Given the description of an element on the screen output the (x, y) to click on. 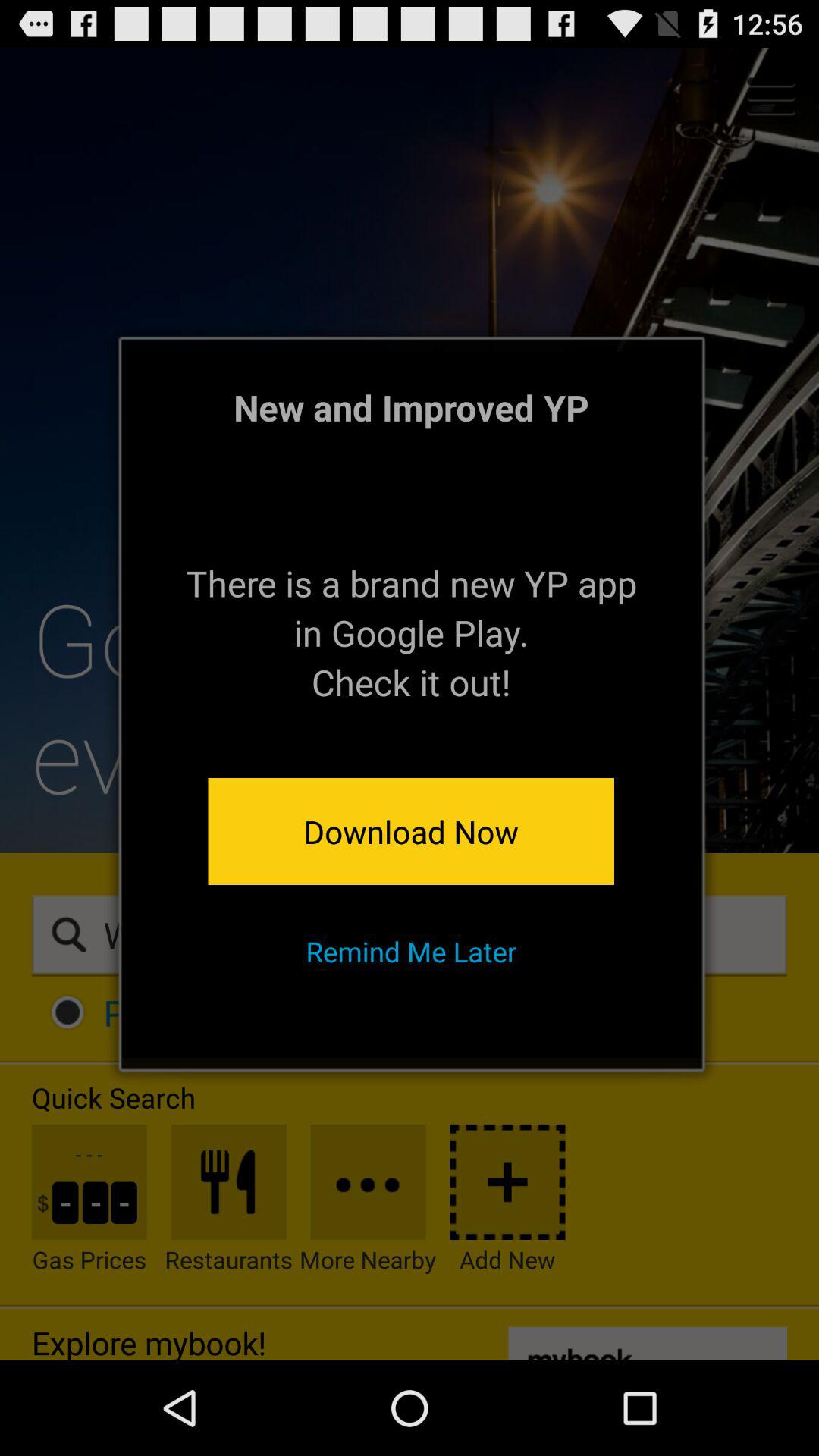
flip to remind me later icon (411, 951)
